Given the description of an element on the screen output the (x, y) to click on. 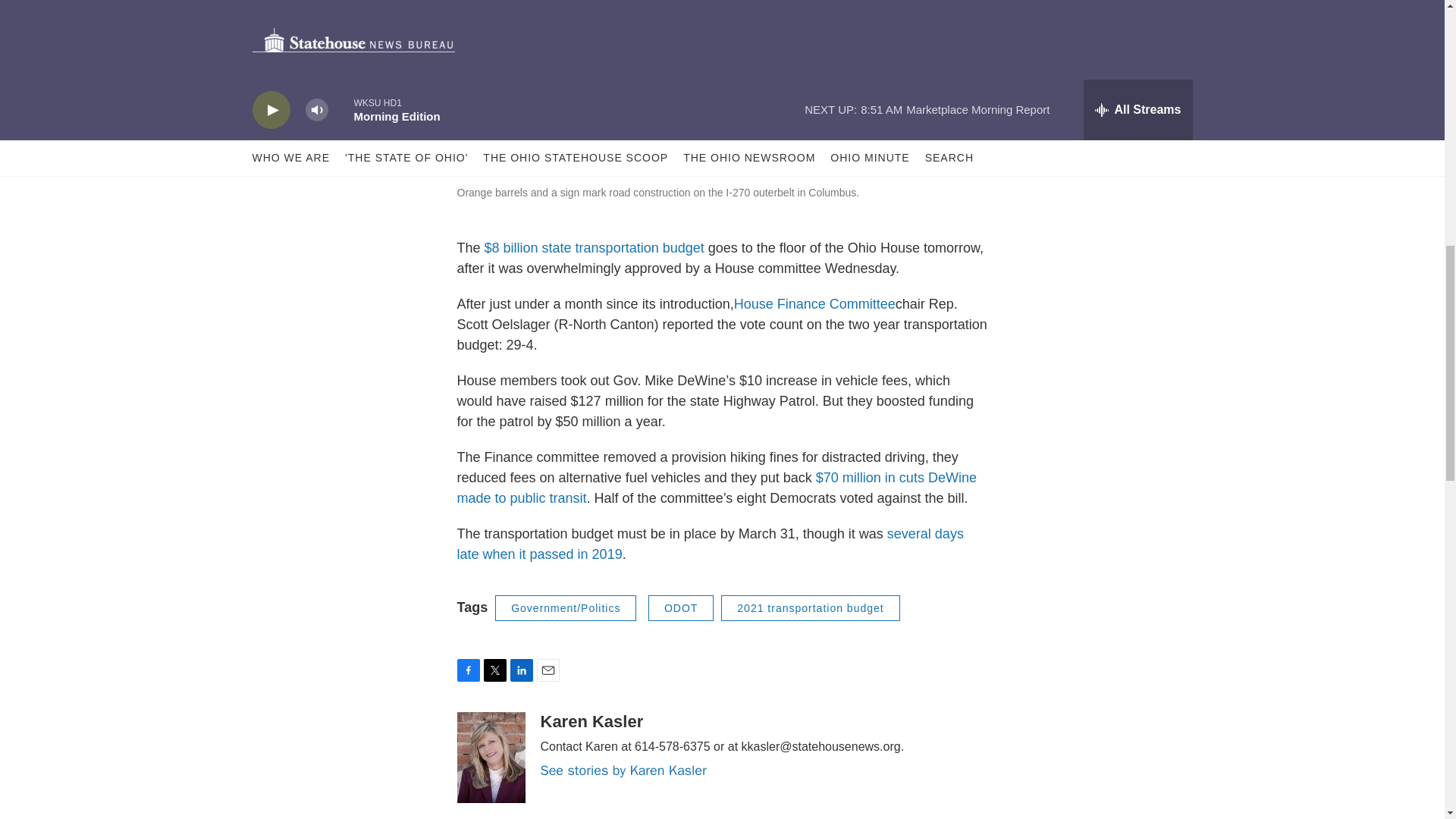
several days late when it passed in 2019 (709, 543)
House Finance Committee (814, 304)
